Given the description of an element on the screen output the (x, y) to click on. 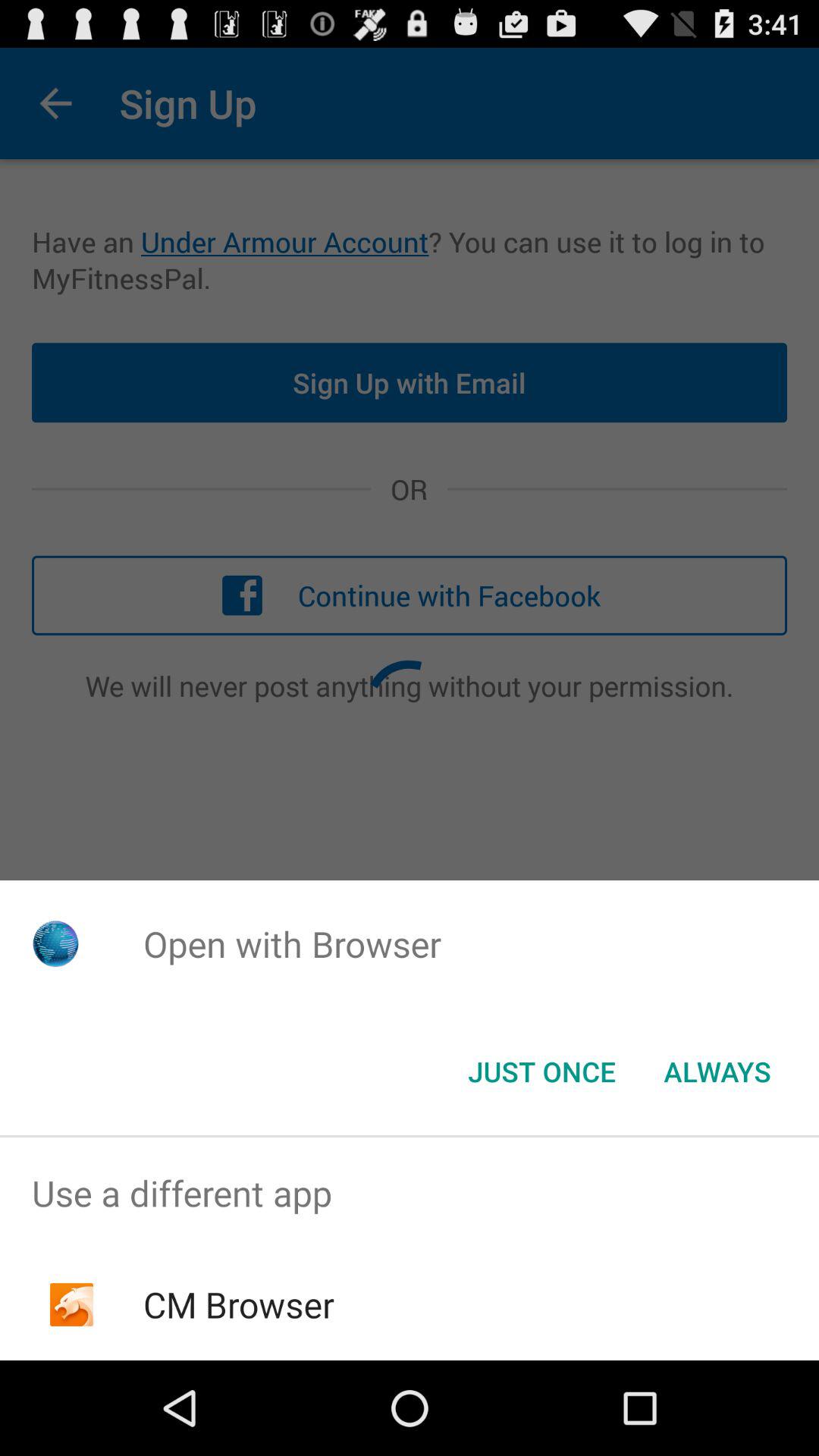
select item at the bottom right corner (717, 1071)
